Given the description of an element on the screen output the (x, y) to click on. 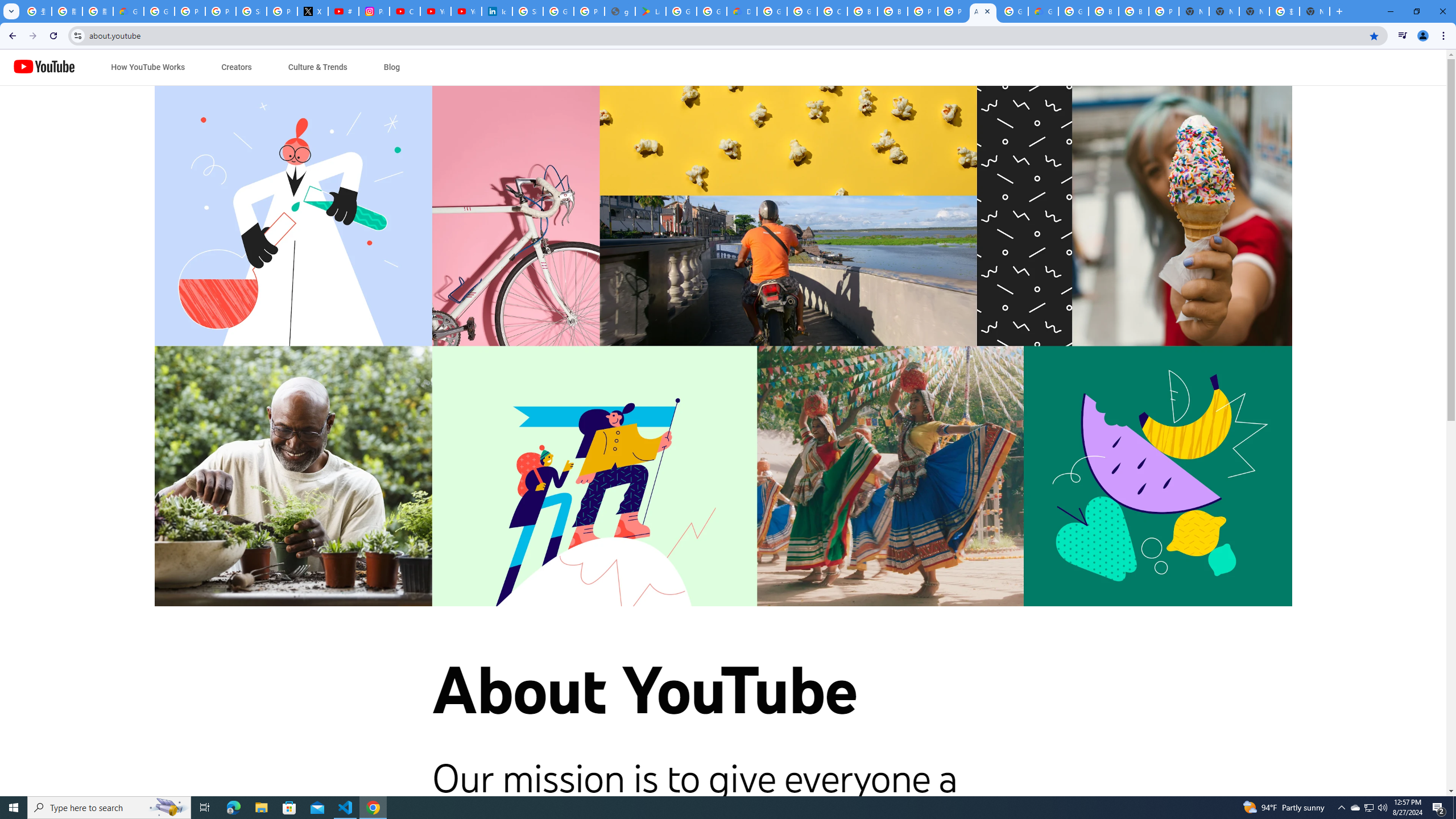
Jump to content (105, 67)
YouTube Culture & Trends - YouTube Top 10, 2021 (465, 11)
Sign in - Google Accounts (527, 11)
Google Workspace - Specific Terms (711, 11)
Blog (391, 67)
Privacy Help Center - Policies Help (220, 11)
#nbabasketballhighlights - YouTube (343, 11)
